Given the description of an element on the screen output the (x, y) to click on. 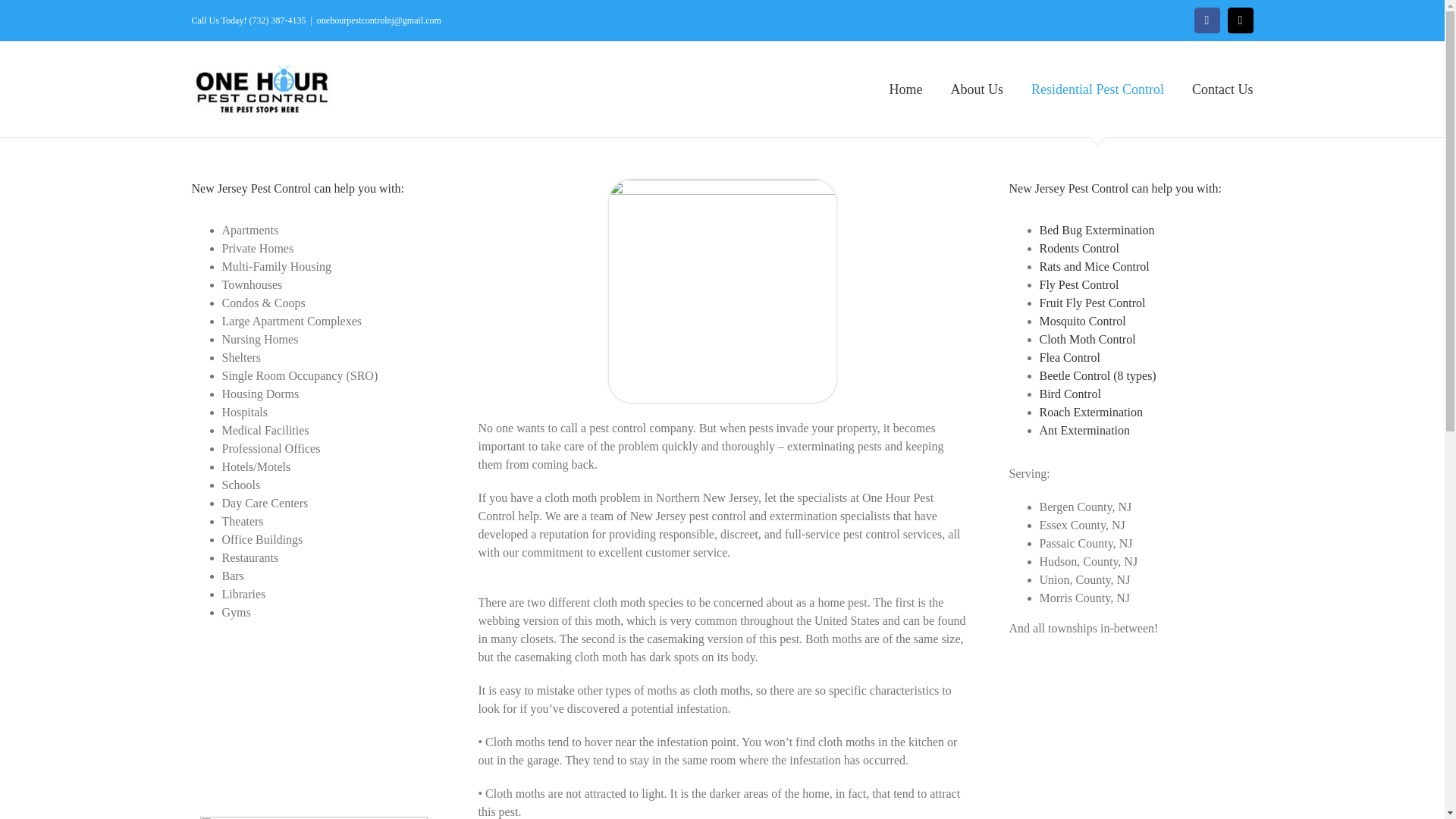
Facebook (1206, 20)
Facebook (1206, 20)
Residential Pest Control (1096, 89)
X (1239, 20)
X (1239, 20)
